Given the description of an element on the screen output the (x, y) to click on. 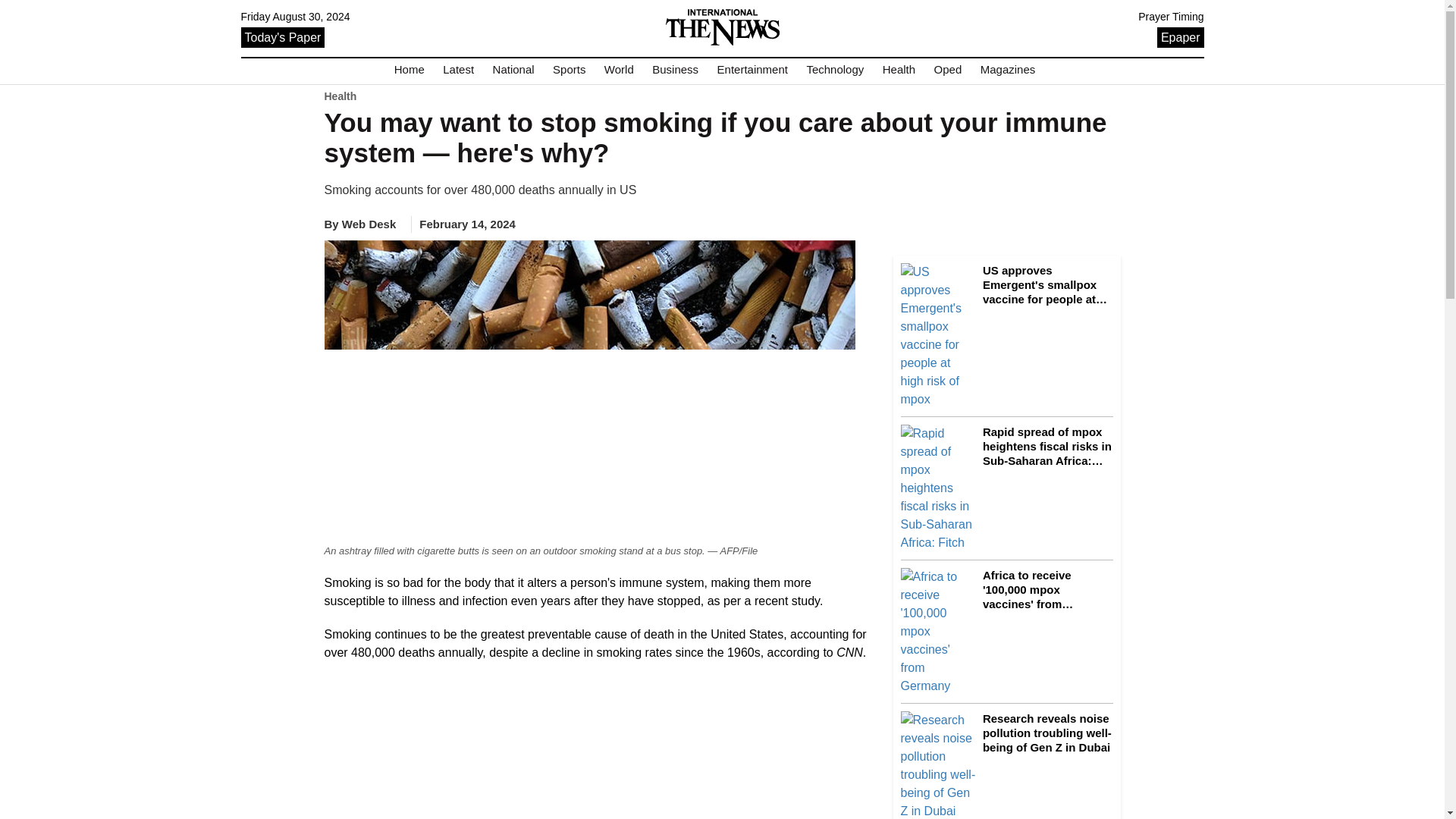
Technology (833, 69)
Business (675, 69)
Latest (458, 69)
Prayer Timing (1171, 16)
Home (409, 69)
World (619, 69)
Health (899, 69)
Sports (568, 69)
National (512, 69)
Epaper (1180, 37)
